Given the description of an element on the screen output the (x, y) to click on. 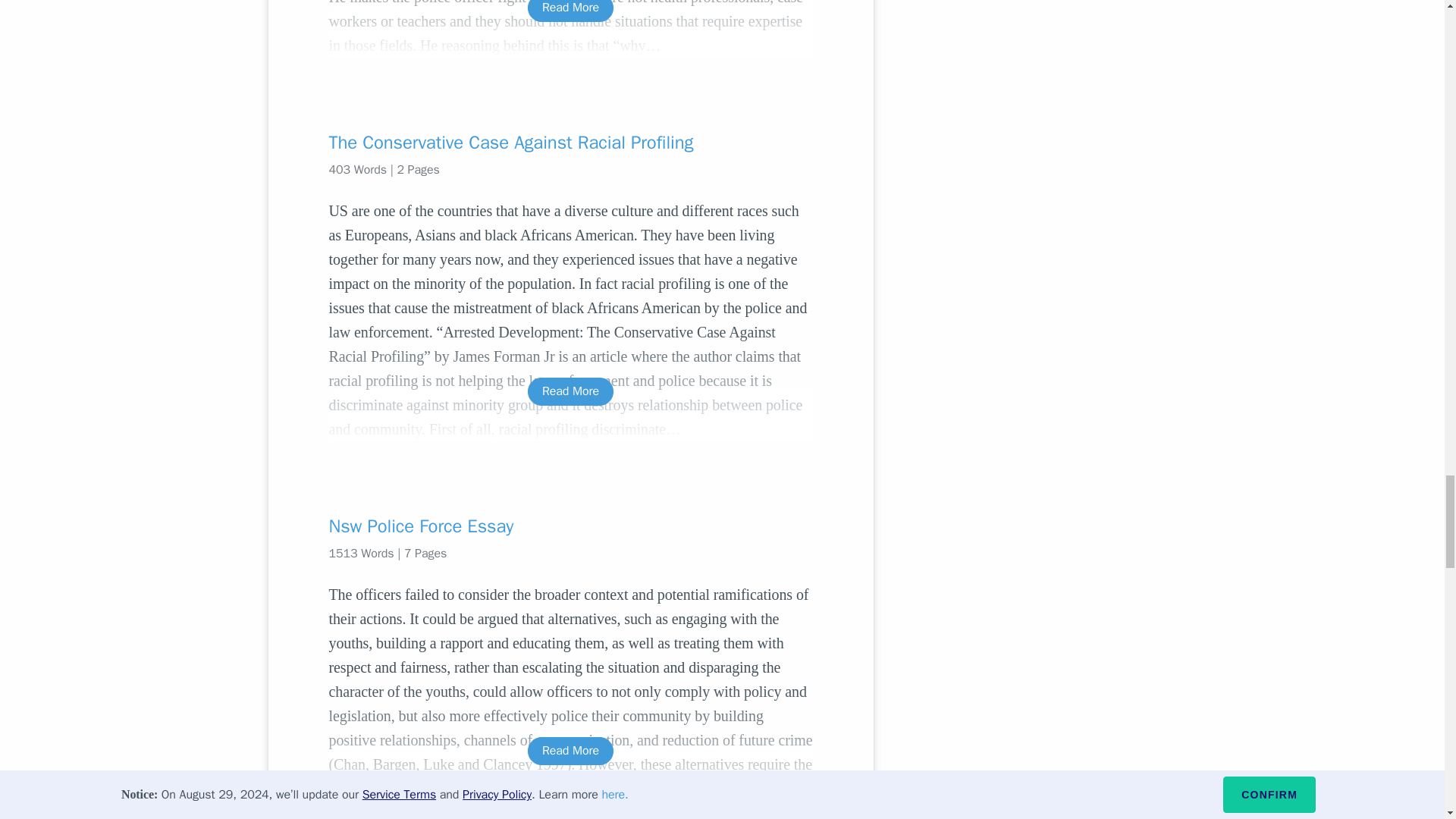
Read More (569, 11)
The Conservative Case Against Racial Profiling (570, 142)
Read More (569, 391)
